Given the description of an element on the screen output the (x, y) to click on. 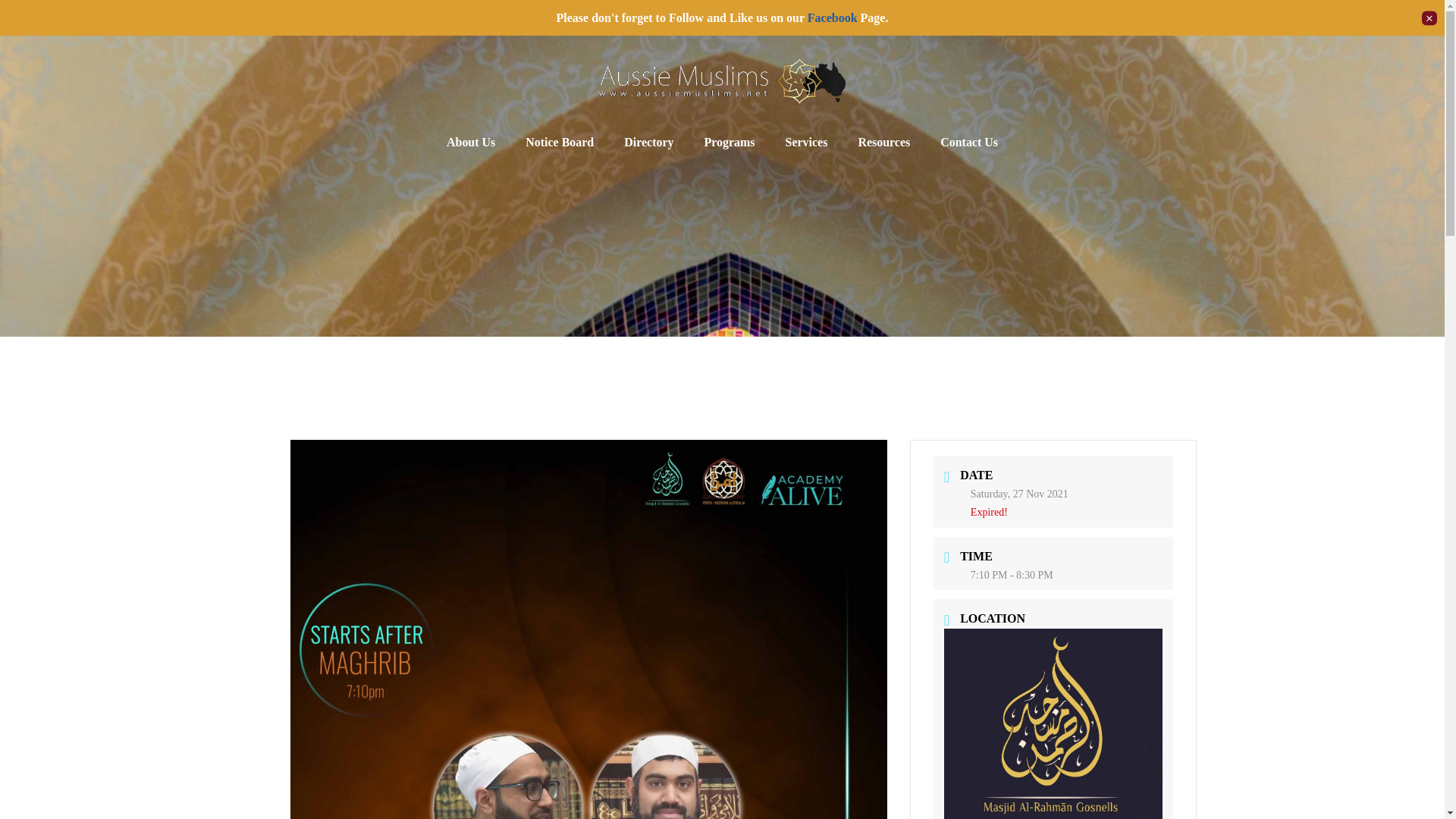
Services (806, 142)
Directory (648, 142)
Resources (883, 142)
Facebook (832, 17)
Contact Us (968, 142)
Notice Board (559, 142)
About Us (470, 142)
Programs (729, 142)
